Given the description of an element on the screen output the (x, y) to click on. 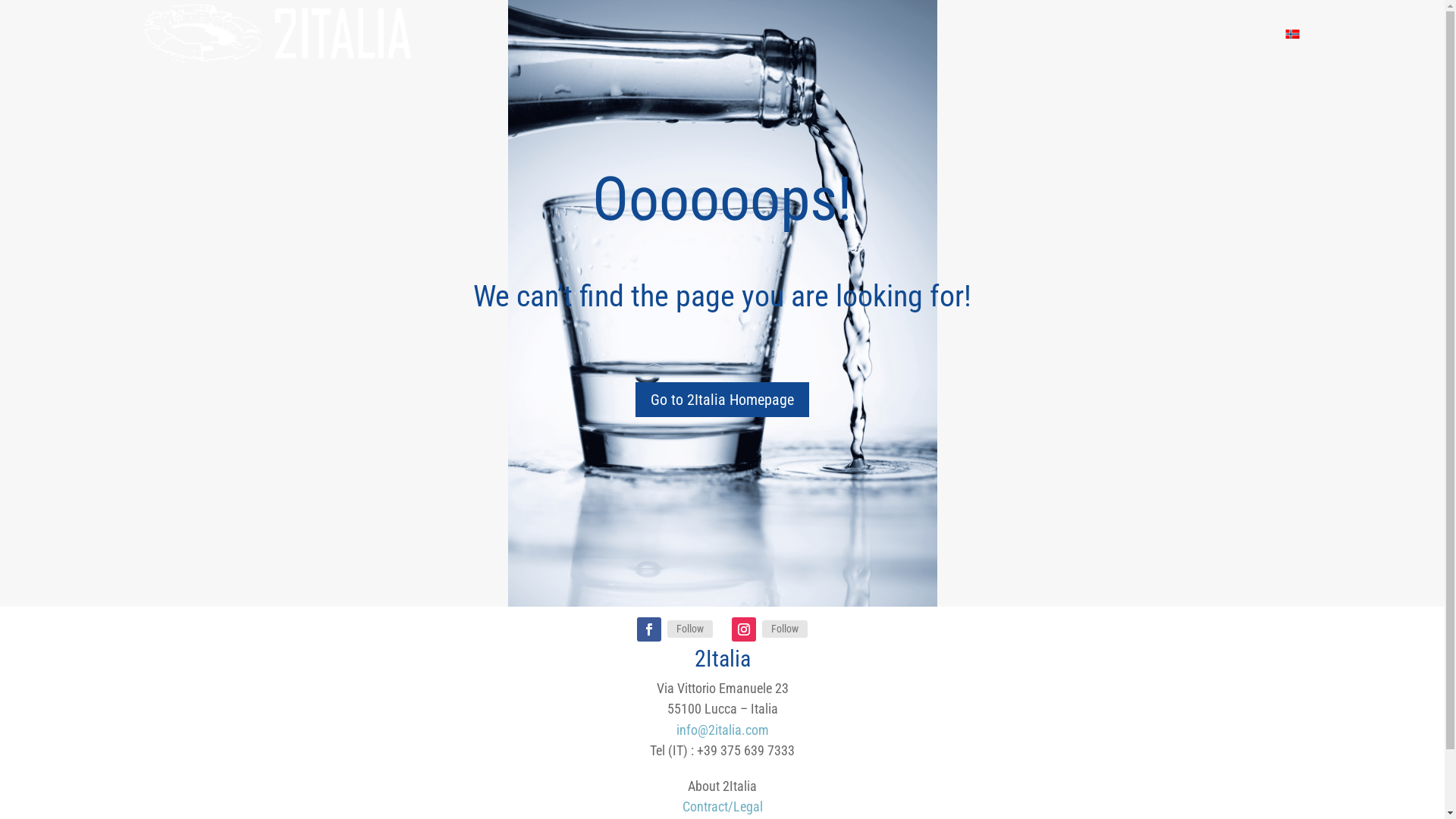
Follow on Instagram Element type: hover (743, 629)
Go to 2Italia Homepage Element type: text (722, 399)
Contract/Legal Element type: text (722, 806)
Norwegian Element type: hover (1292, 33)
info@2italia.com Element type: text (722, 729)
Follow on Facebook Element type: hover (649, 629)
Follow Element type: text (784, 628)
Follow Element type: text (689, 628)
